Given the description of an element on the screen output the (x, y) to click on. 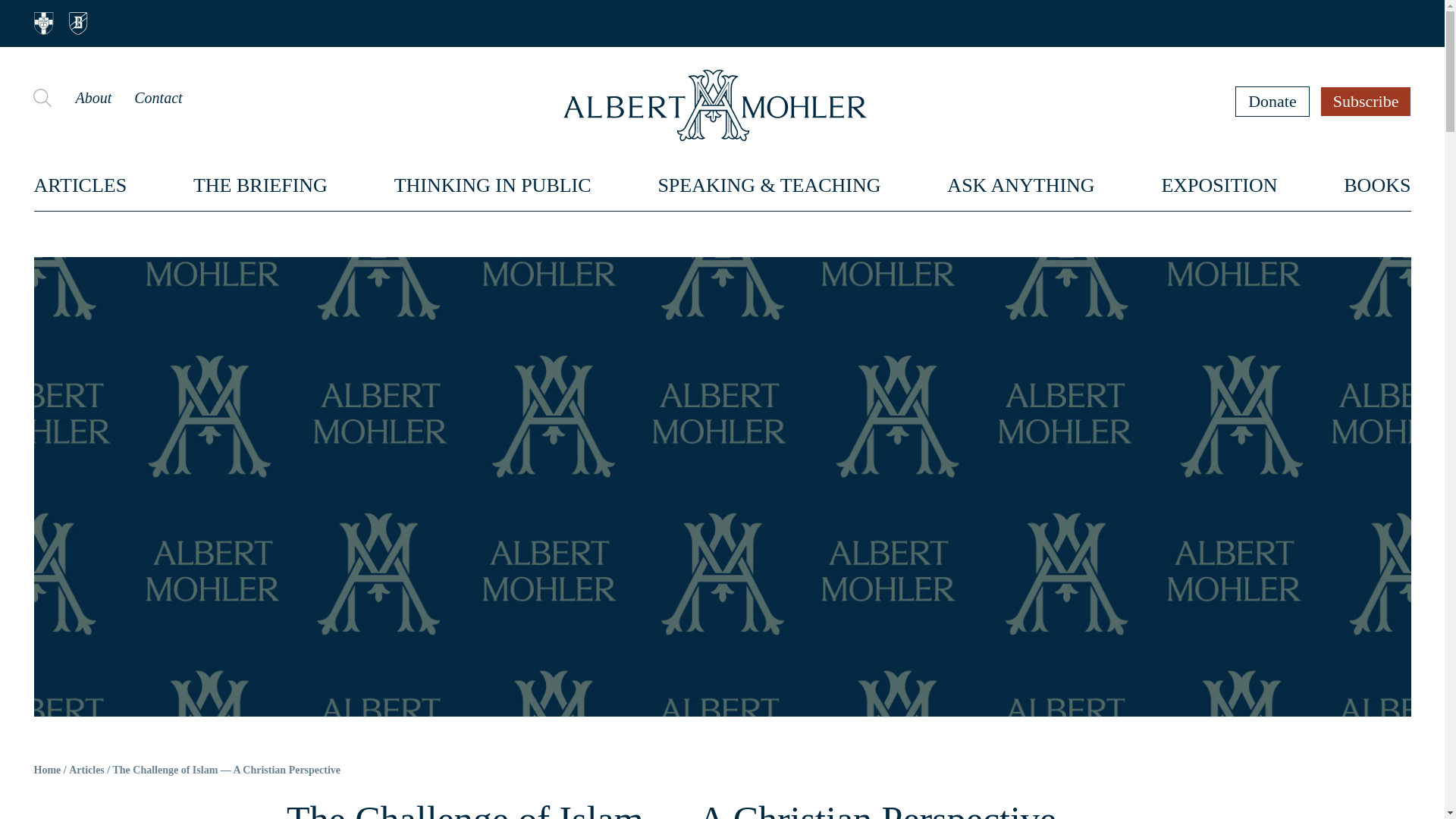
Subscribe (1366, 101)
ASK ANYTHING (1020, 185)
Home (47, 770)
THINKING IN PUBLIC (492, 185)
Donate (1272, 101)
About (93, 97)
Contact (157, 97)
THE BRIEFING (260, 185)
BOOKS (1376, 185)
EXPOSITION (1218, 185)
